Given the description of an element on the screen output the (x, y) to click on. 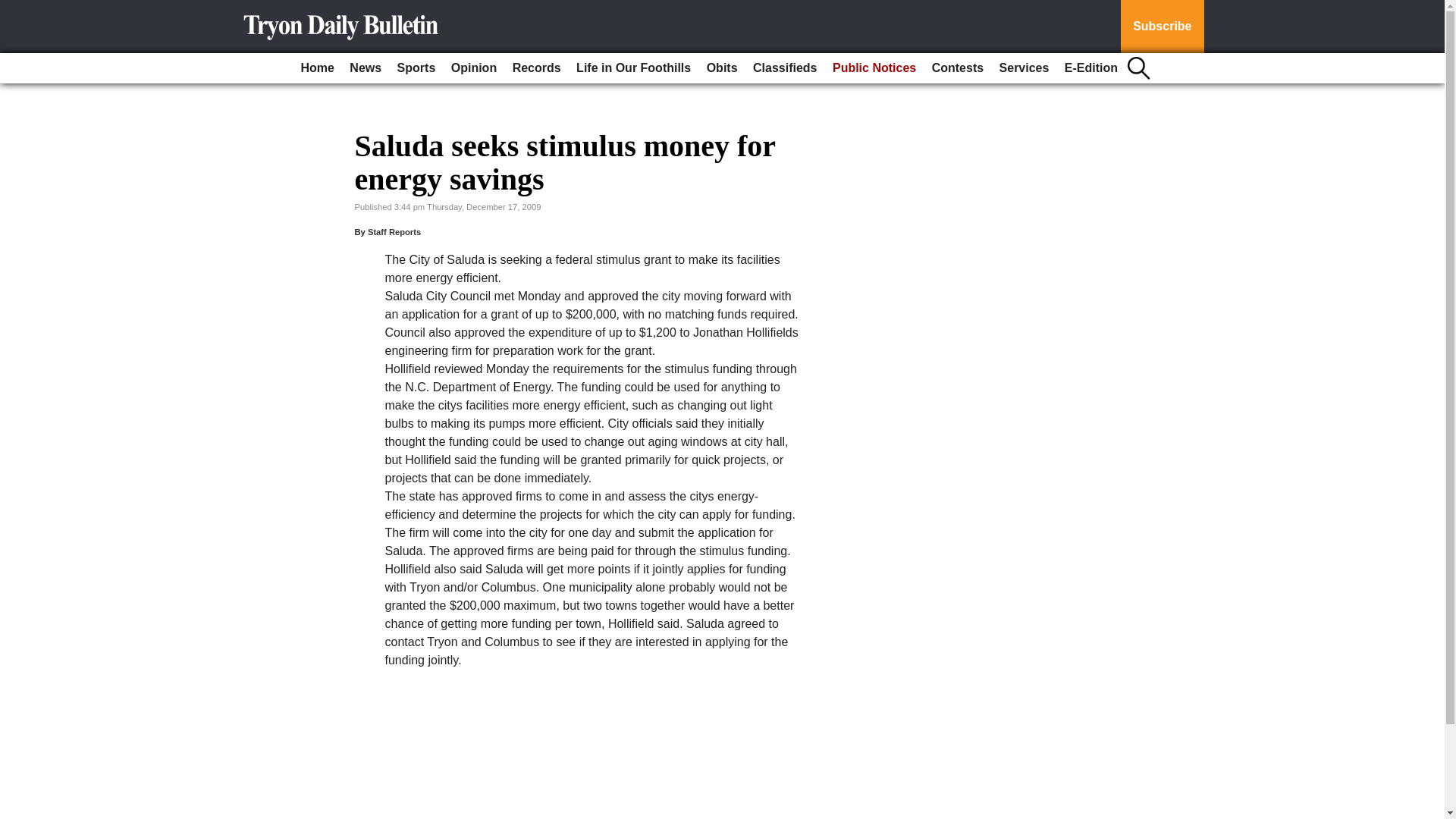
Go (13, 9)
Obits (722, 68)
Public Notices (874, 68)
E-Edition (1091, 68)
Records (536, 68)
Subscribe (1162, 26)
Classifieds (784, 68)
News (365, 68)
Home (316, 68)
Staff Reports (394, 231)
